Given the description of an element on the screen output the (x, y) to click on. 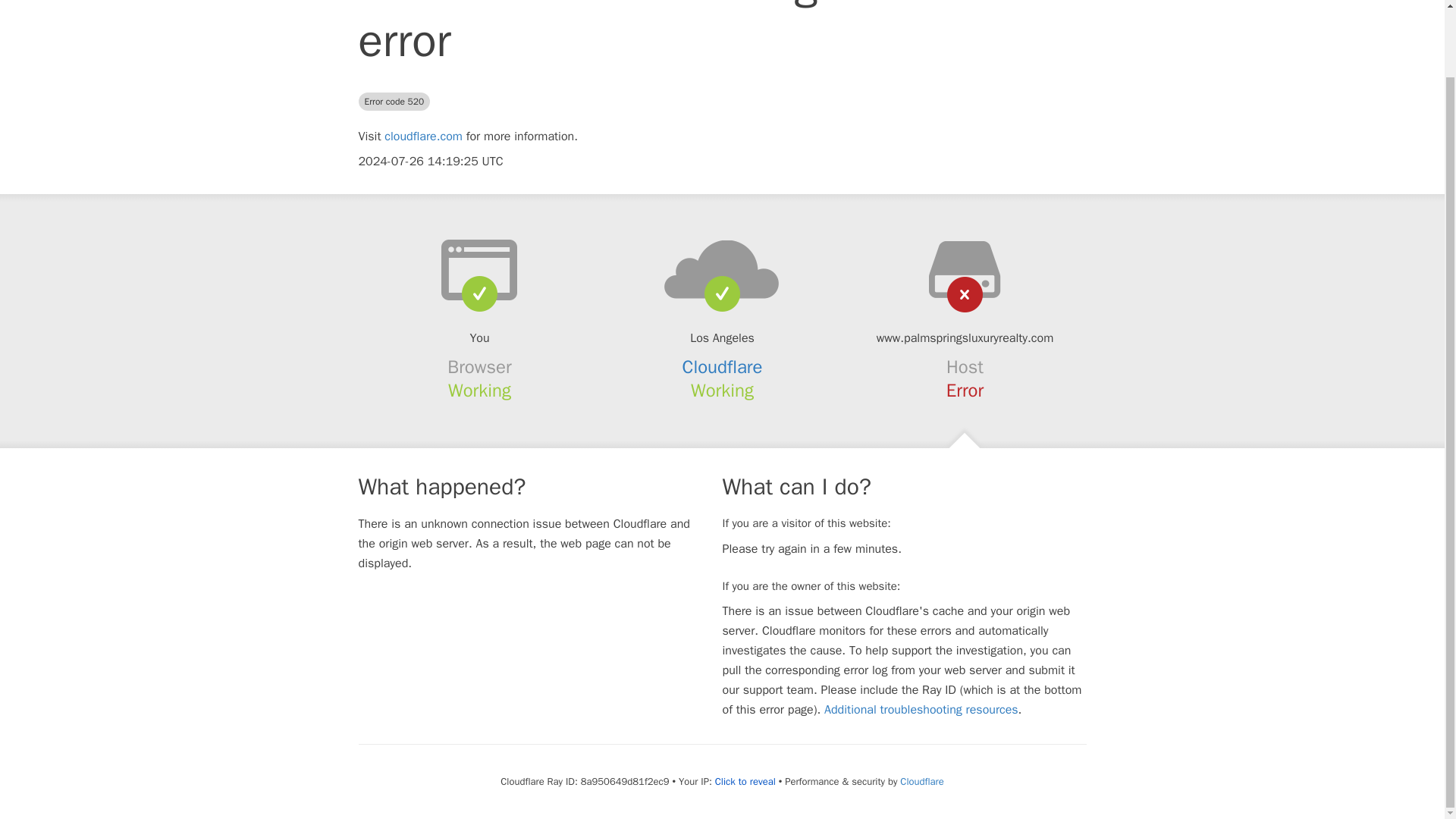
Additional troubleshooting resources (920, 709)
Click to reveal (745, 781)
cloudflare.com (423, 136)
Cloudflare (722, 366)
Cloudflare (921, 780)
